Given the description of an element on the screen output the (x, y) to click on. 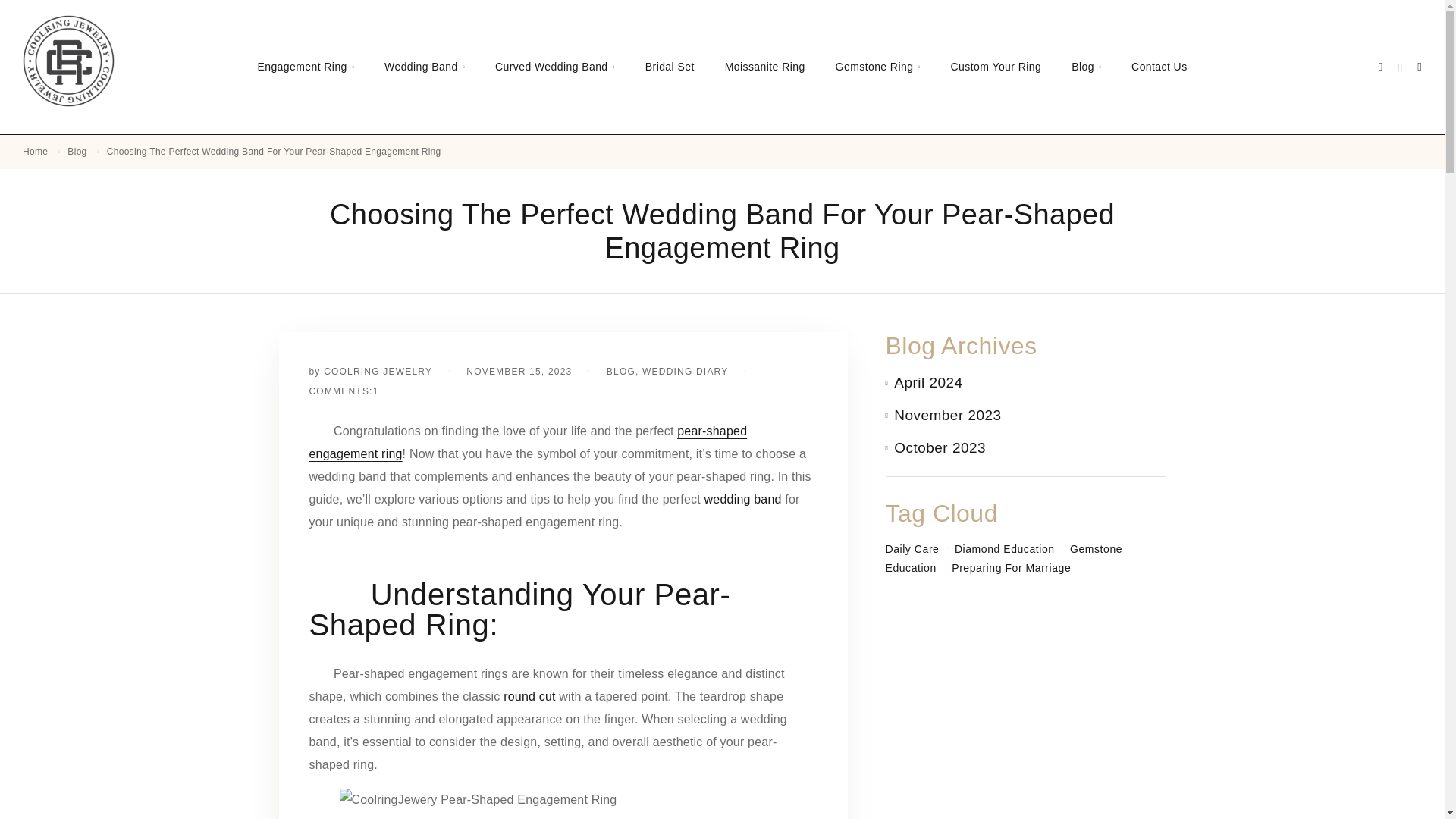
Home (35, 151)
Login (1380, 66)
Blog (75, 151)
